Given the description of an element on the screen output the (x, y) to click on. 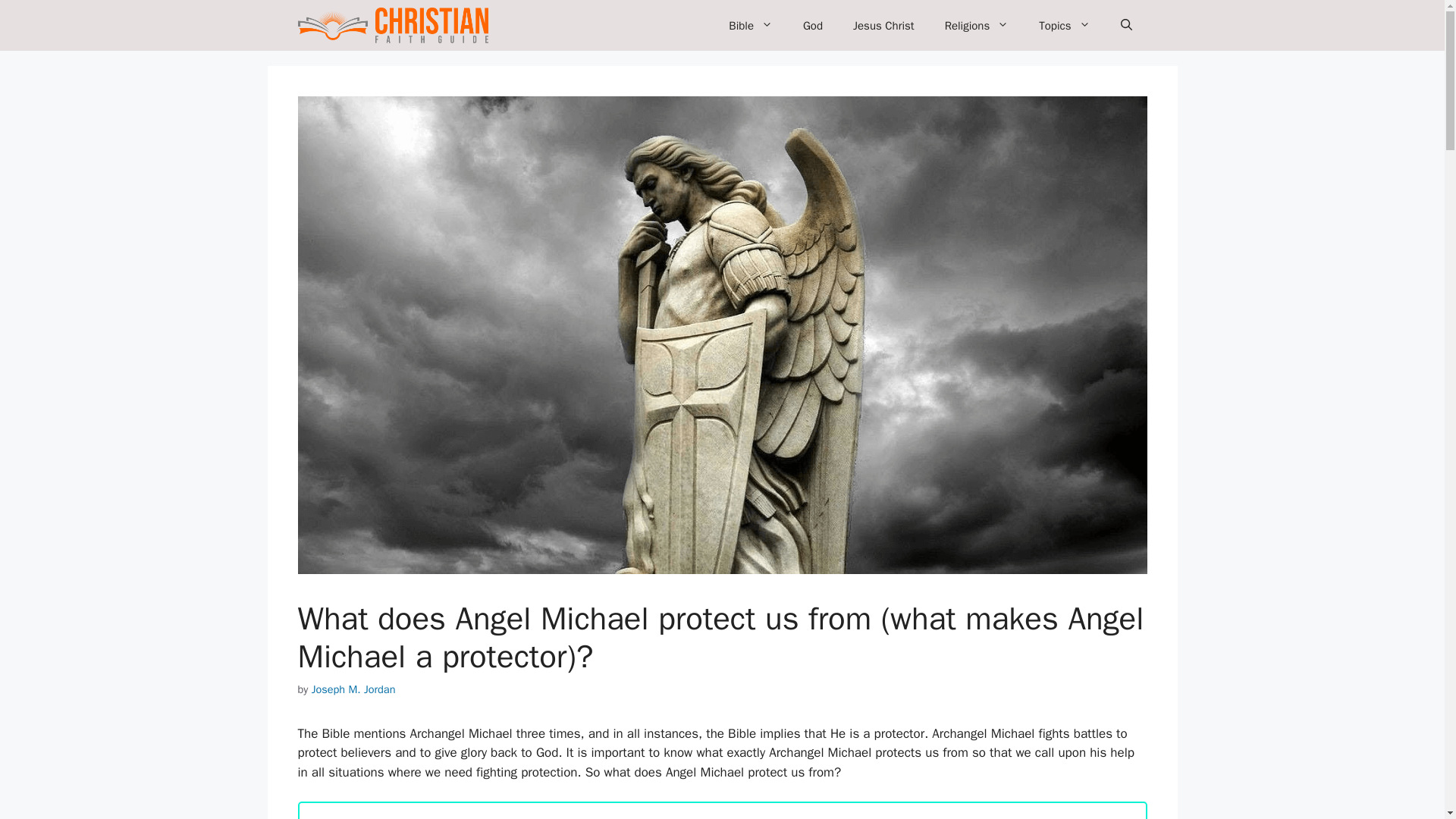
Topics (1064, 25)
View all posts by Joseph M. Jordan (353, 689)
Bible (750, 25)
Christian Faith Guide (392, 25)
God (812, 25)
Religions (977, 25)
Jesus Christ (884, 25)
